Given the description of an element on the screen output the (x, y) to click on. 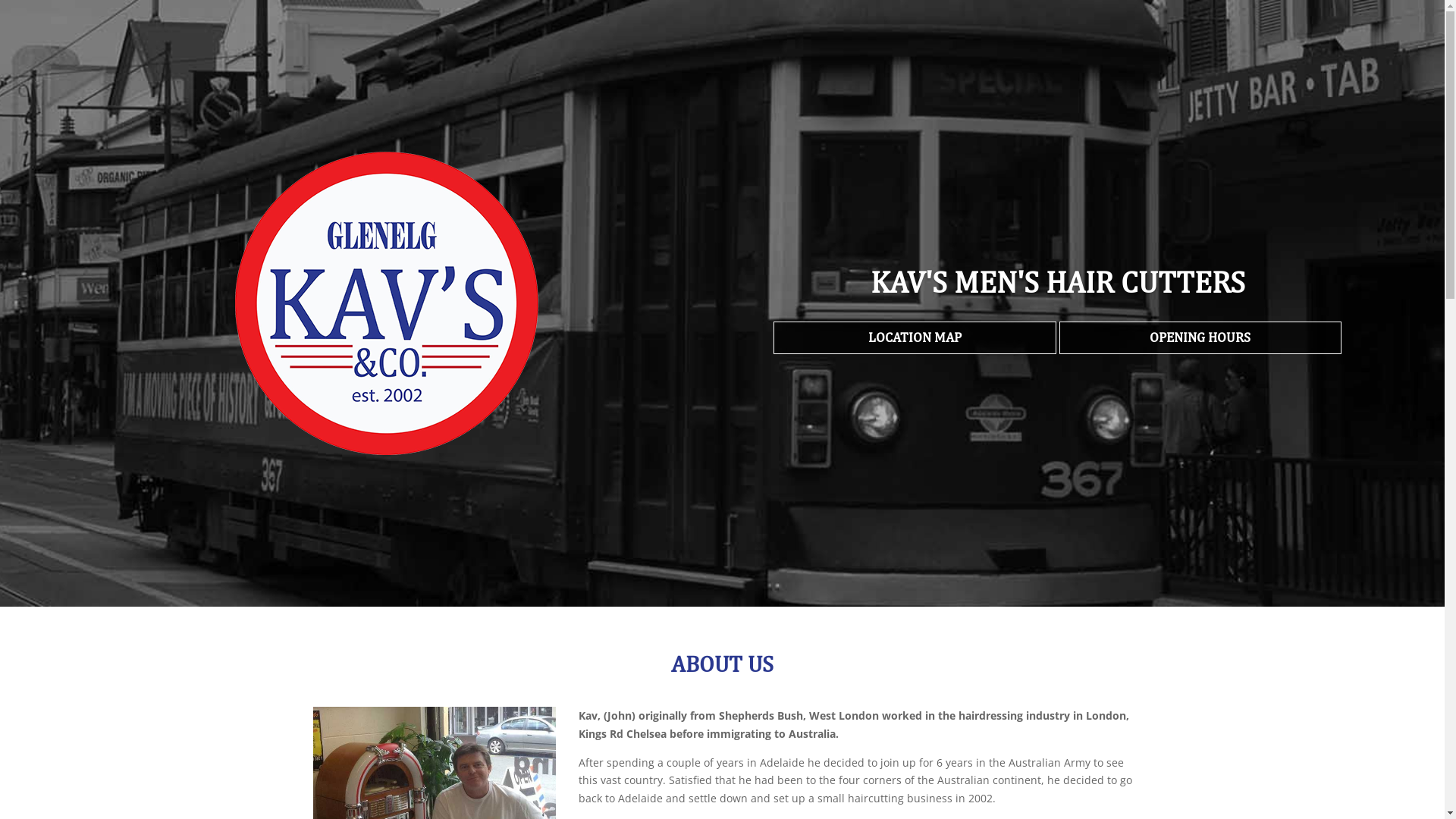
OPENING HOURS Element type: text (1200, 337)
LOCATION MAP Element type: text (914, 337)
